Given the description of an element on the screen output the (x, y) to click on. 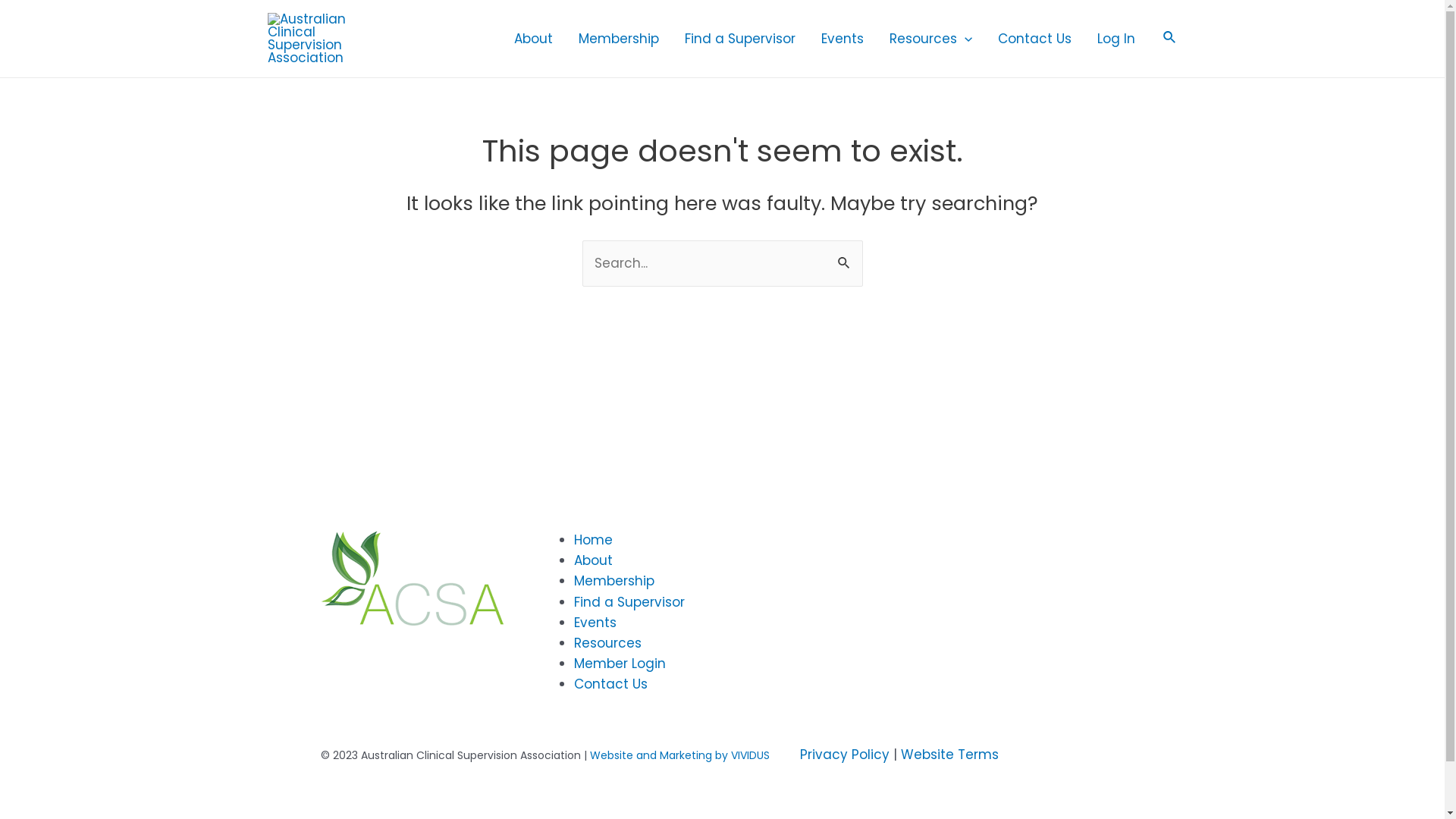
Find a Supervisor Element type: text (628, 602)
About Element type: text (533, 38)
Membership Element type: text (618, 38)
Resources Element type: text (930, 38)
Search Element type: text (845, 256)
Log In Element type: text (1116, 38)
Australian Clinical Supervision Association Element type: hover (412, 578)
Search Element type: text (1169, 38)
Contact Us Element type: text (609, 683)
Find a Supervisor Element type: text (739, 38)
About Element type: text (592, 560)
Website Terms Element type: text (949, 754)
Privacy Policy Element type: text (843, 754)
Events Element type: text (594, 622)
Resources Element type: text (606, 642)
Contact Us Element type: text (1034, 38)
Website and Marketing by VIVIDUS Element type: text (679, 754)
Member Login Element type: text (619, 663)
Home Element type: text (592, 539)
Events Element type: text (842, 38)
Membership Element type: text (613, 580)
